Given the description of an element on the screen output the (x, y) to click on. 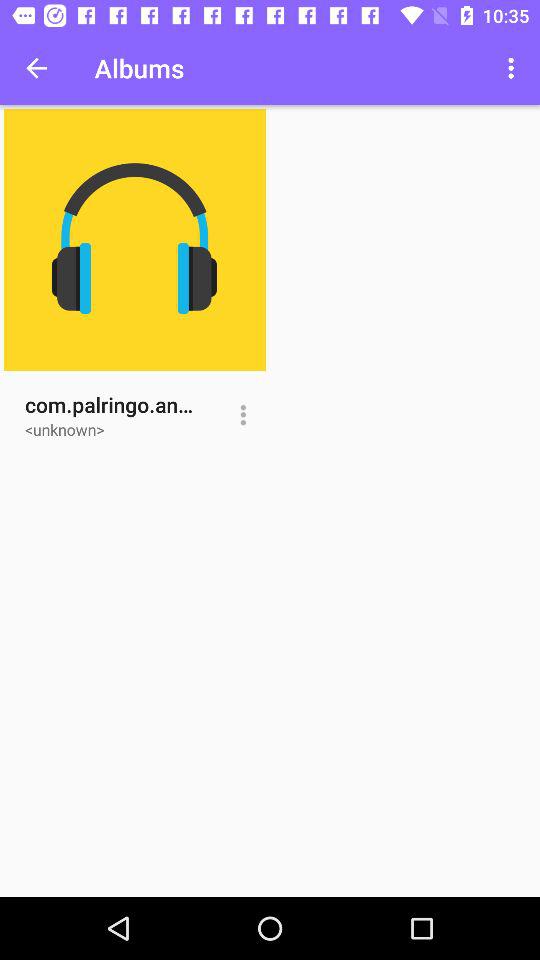
choose icon next to the albums item (36, 68)
